Given the description of an element on the screen output the (x, y) to click on. 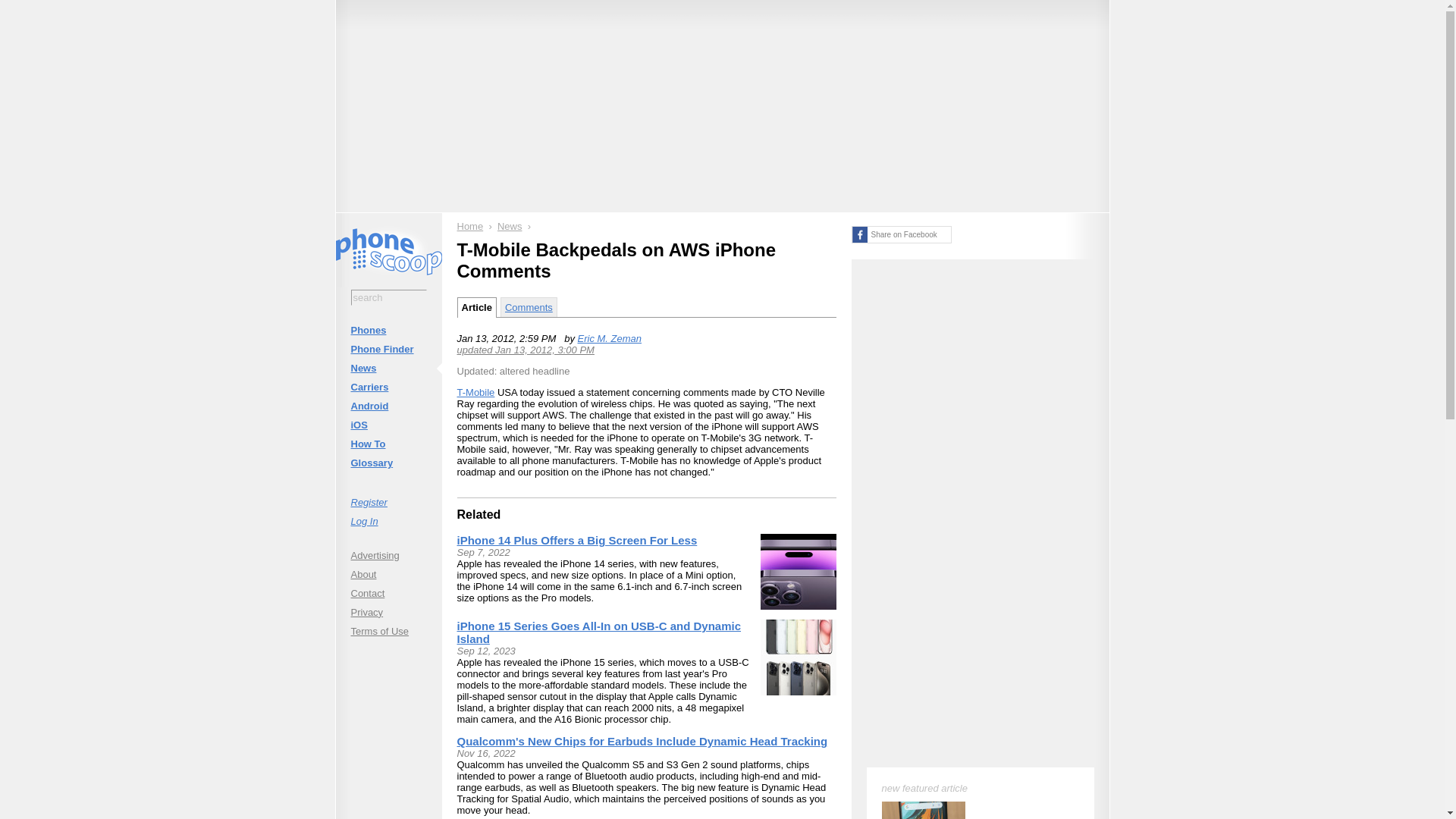
Phones (387, 330)
News (387, 367)
How To (387, 443)
News (509, 225)
T-Mobile (476, 392)
Privacy (387, 610)
Share on Facebook (900, 234)
Register (387, 502)
